Given the description of an element on the screen output the (x, y) to click on. 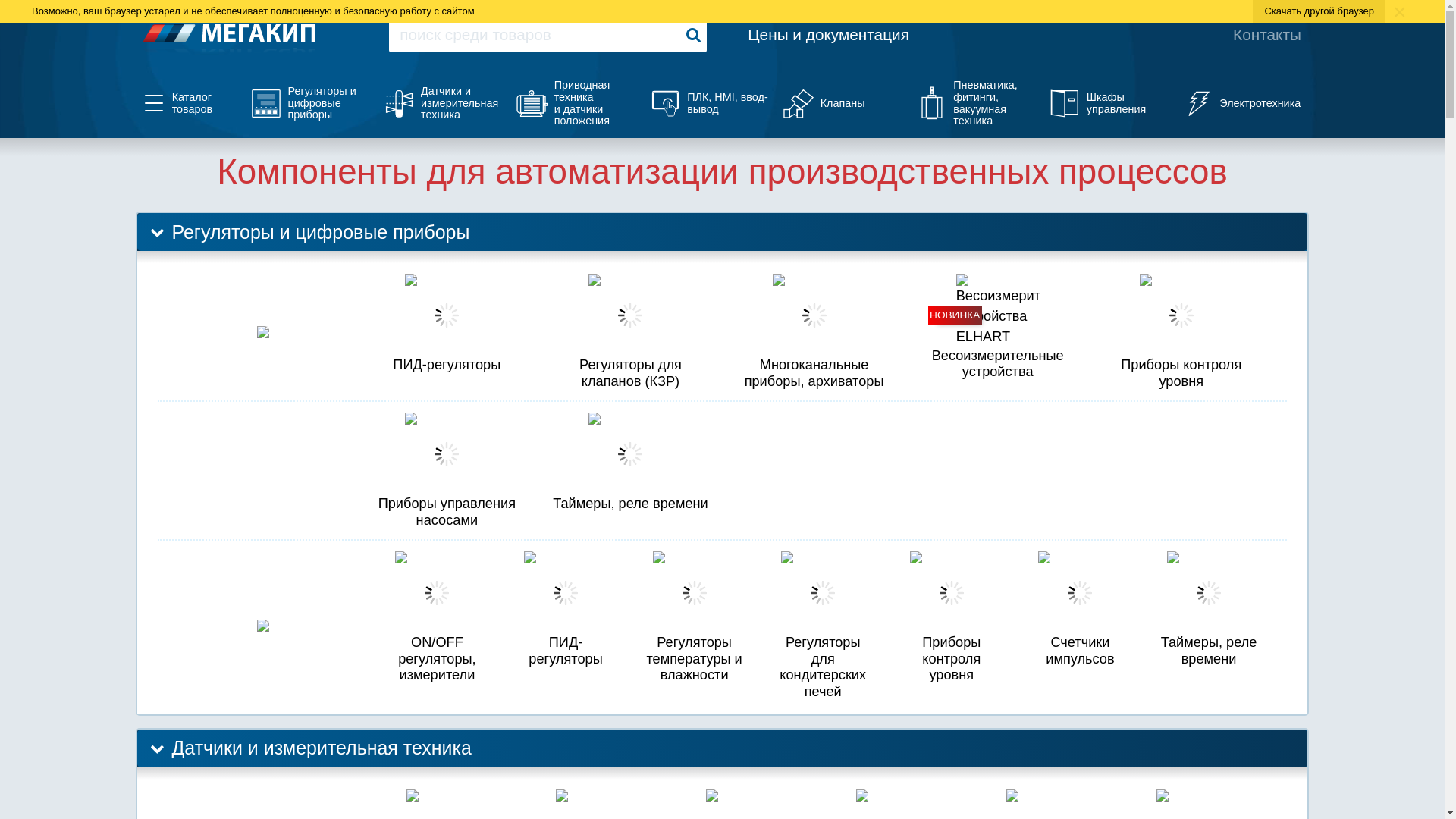
LiveInternet Element type: hover (1036, 772)
